Given the description of an element on the screen output the (x, y) to click on. 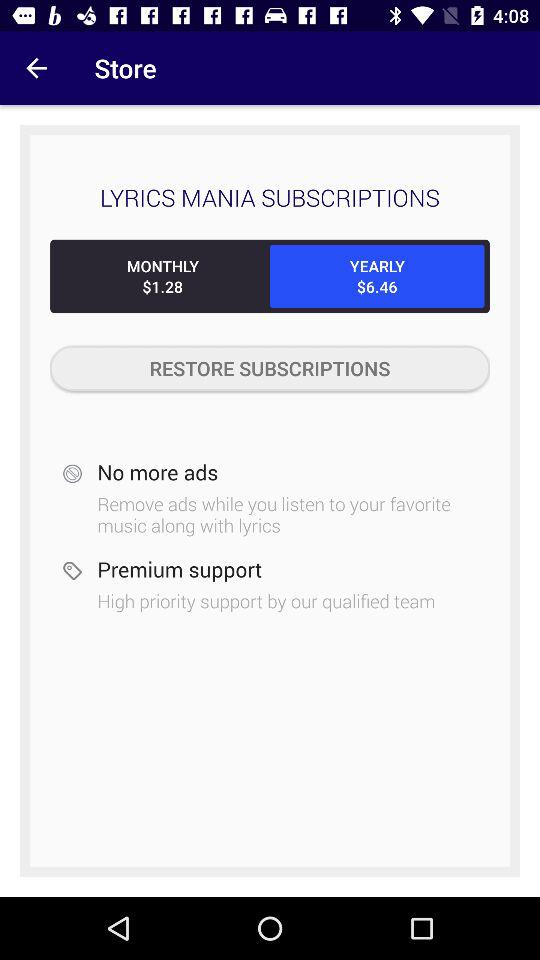
select item above restore subscriptions item (162, 275)
